Given the description of an element on the screen output the (x, y) to click on. 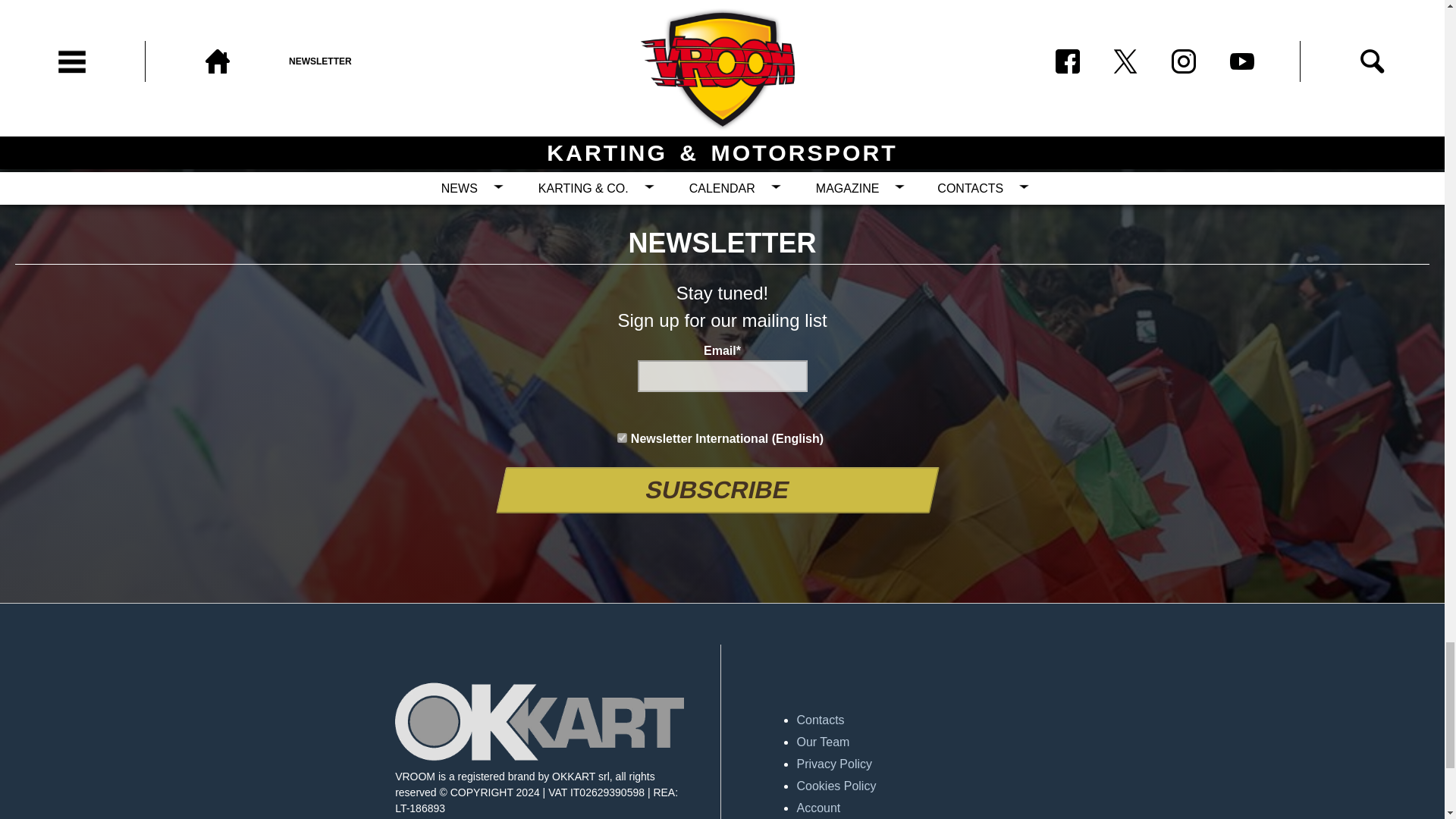
Our Team (940, 742)
Subscribe (713, 489)
3rd party ad content (722, 58)
2 (622, 438)
Contacts (940, 720)
